Given the description of an element on the screen output the (x, y) to click on. 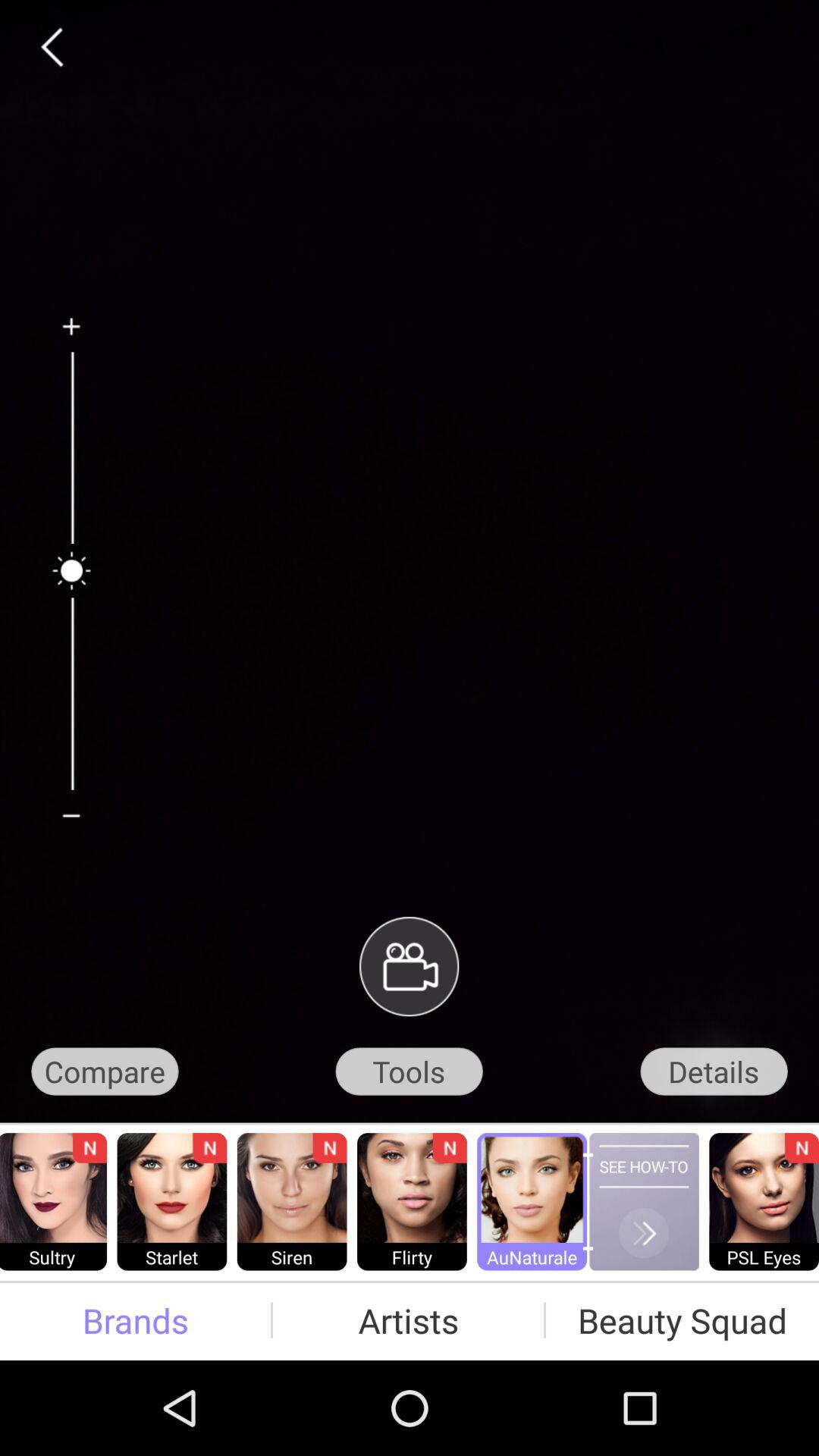
click on the camera symbol (408, 966)
